Given the description of an element on the screen output the (x, y) to click on. 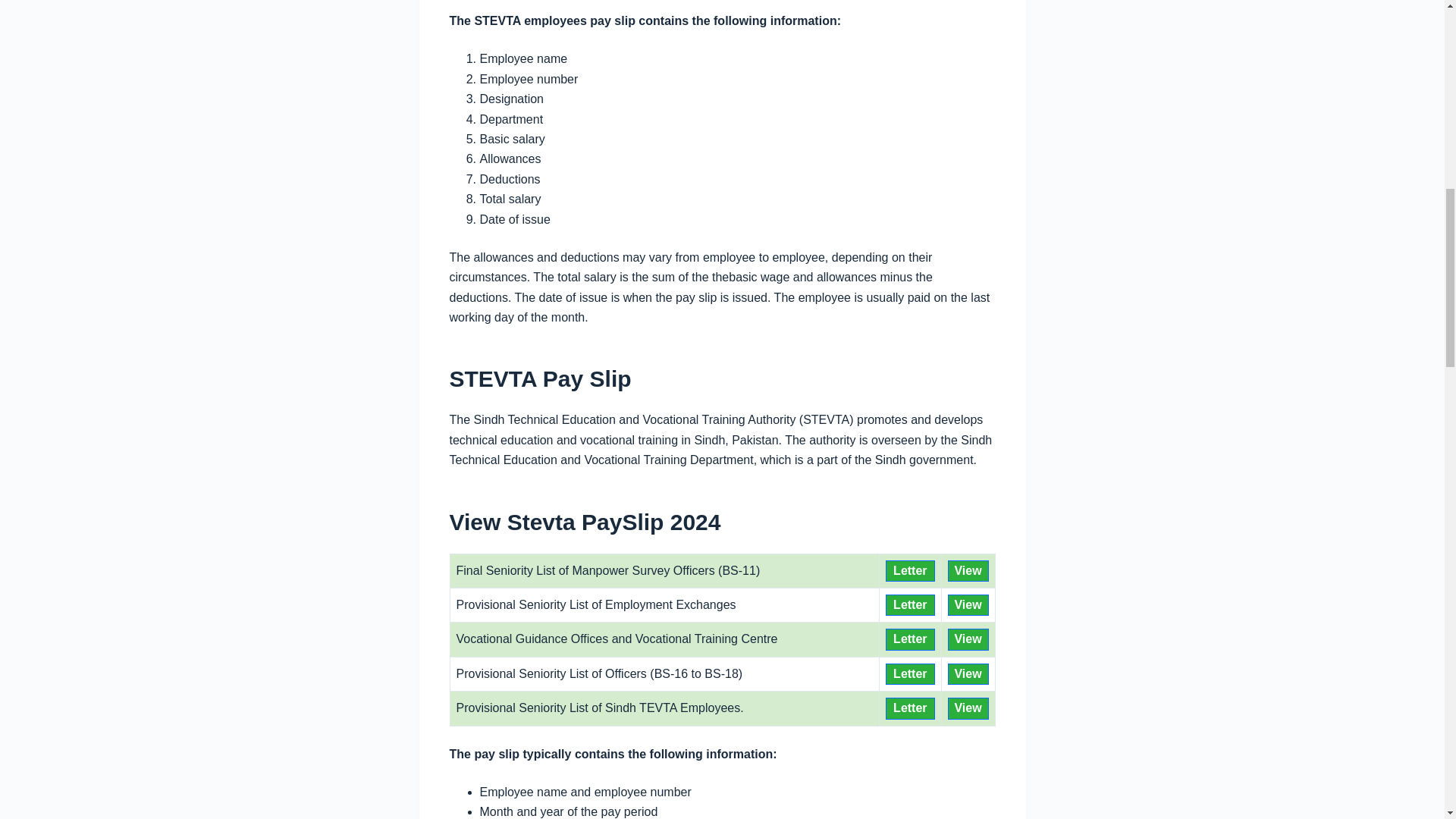
Letter (909, 639)
View (967, 639)
View (967, 673)
View (967, 570)
Letter (909, 673)
Letter (909, 708)
View (967, 708)
Letter (909, 604)
View (967, 604)
Letter (909, 570)
